Given the description of an element on the screen output the (x, y) to click on. 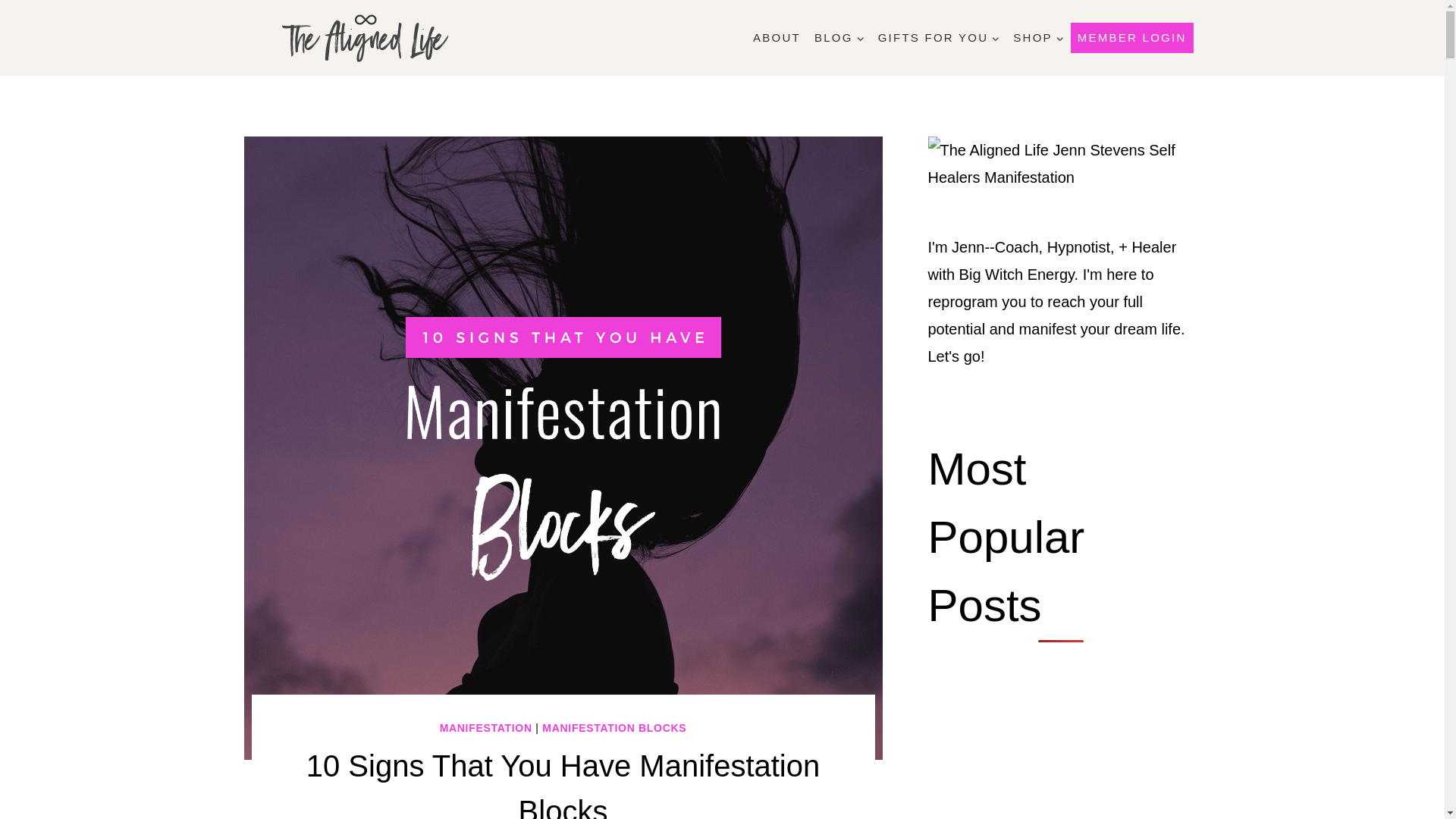
ABOUT (776, 38)
MANIFESTATION BLOCKS (613, 727)
GIFTS FOR YOU (938, 38)
MANIFESTATION (485, 727)
BLOG (839, 38)
SHOP (1038, 38)
MEMBER LOGIN (1131, 38)
